Given the description of an element on the screen output the (x, y) to click on. 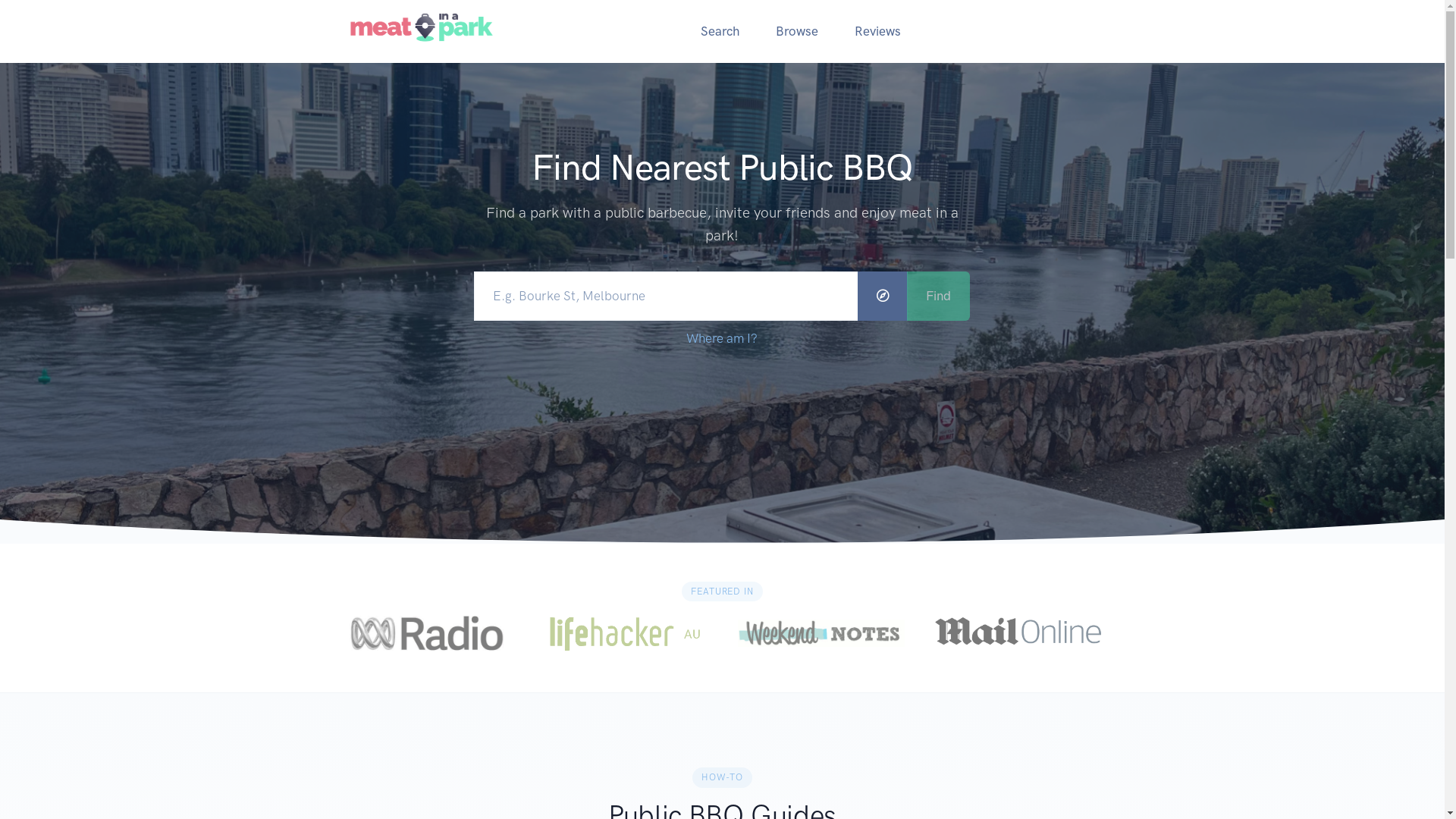
Search Element type: text (719, 31)
Find Element type: text (937, 295)
Browse Element type: text (795, 31)
Reviews Element type: text (876, 31)
Where am I? Element type: text (721, 338)
